Given the description of an element on the screen output the (x, y) to click on. 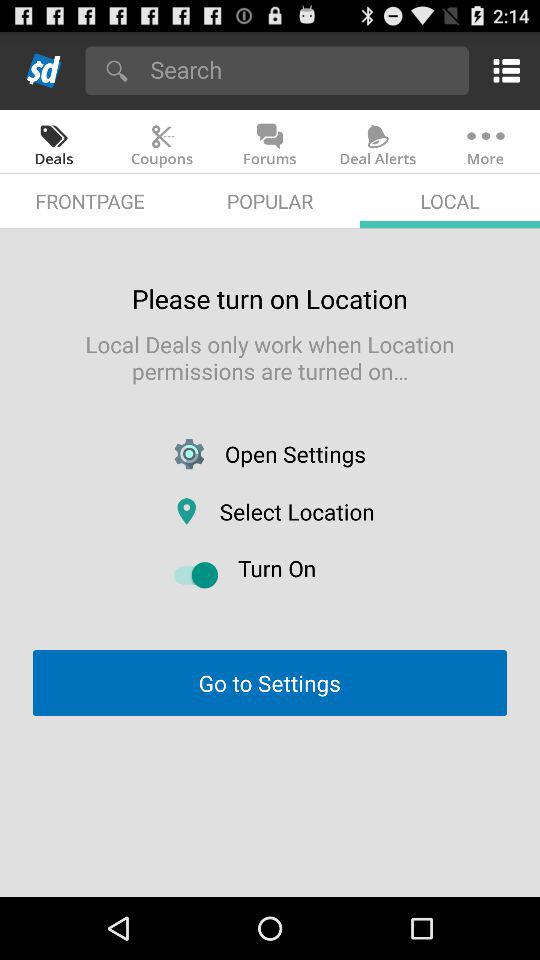
activate the menu (502, 70)
